Given the description of an element on the screen output the (x, y) to click on. 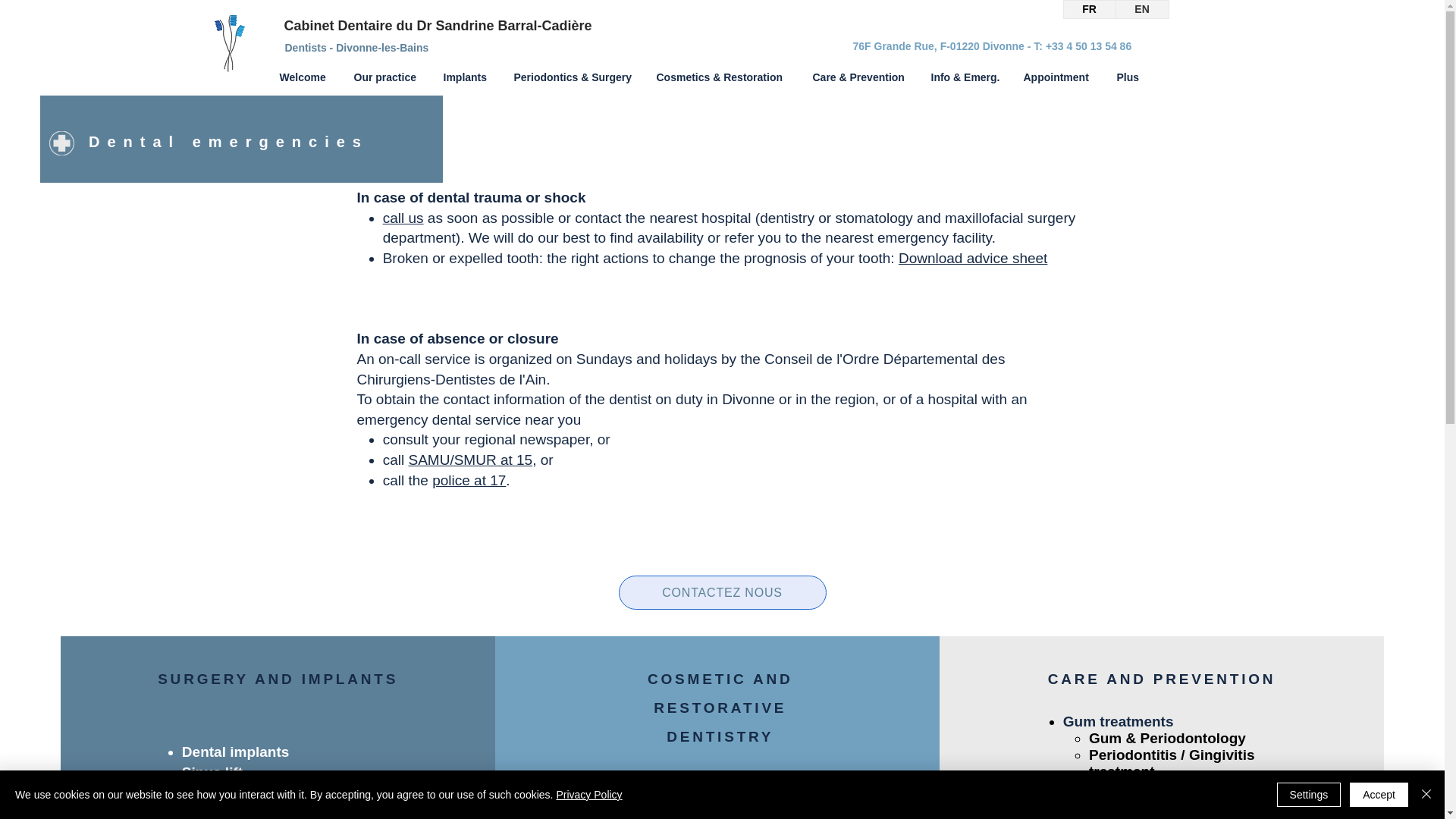
FR (1088, 9)
Welcome (304, 77)
EN (1142, 9)
